Given the description of an element on the screen output the (x, y) to click on. 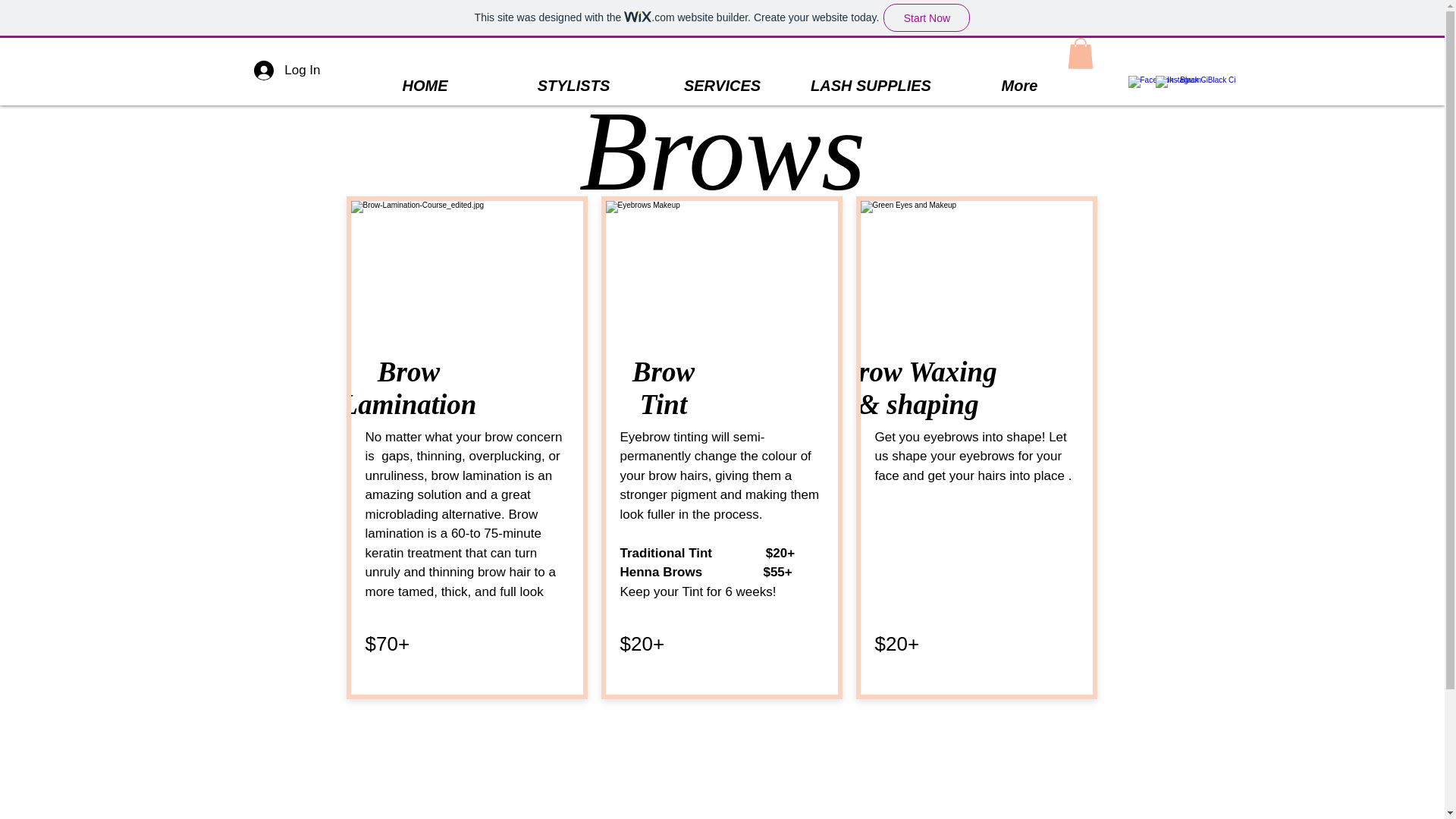
HOME (424, 85)
Log In (286, 70)
STYLISTS (573, 85)
microblading alternative (433, 513)
overplucking (504, 455)
LASH SUPPLIES (870, 85)
